Given the description of an element on the screen output the (x, y) to click on. 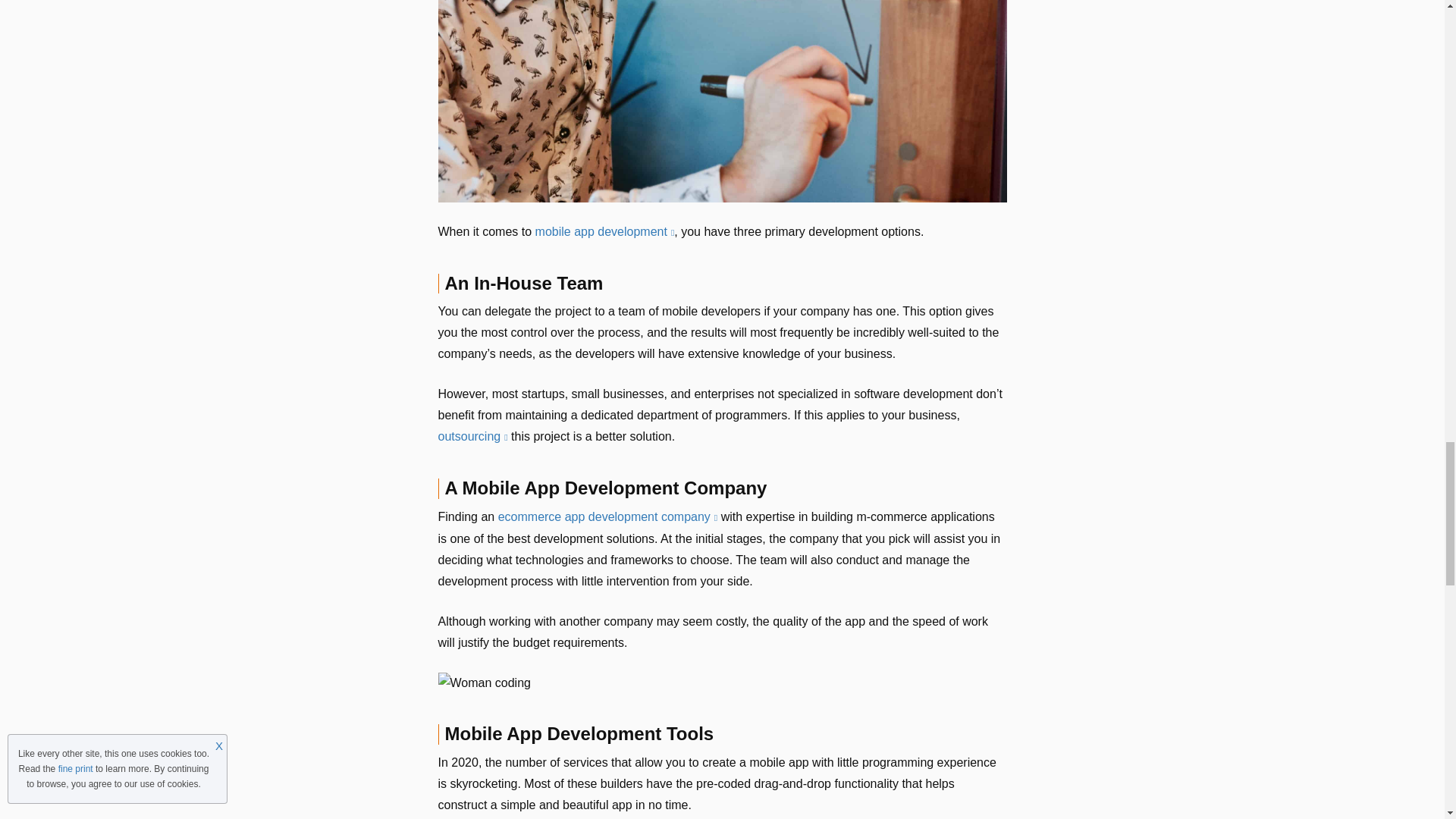
mobile app development (605, 231)
outsourcing (473, 436)
ecommerce app development company (607, 516)
